Given the description of an element on the screen output the (x, y) to click on. 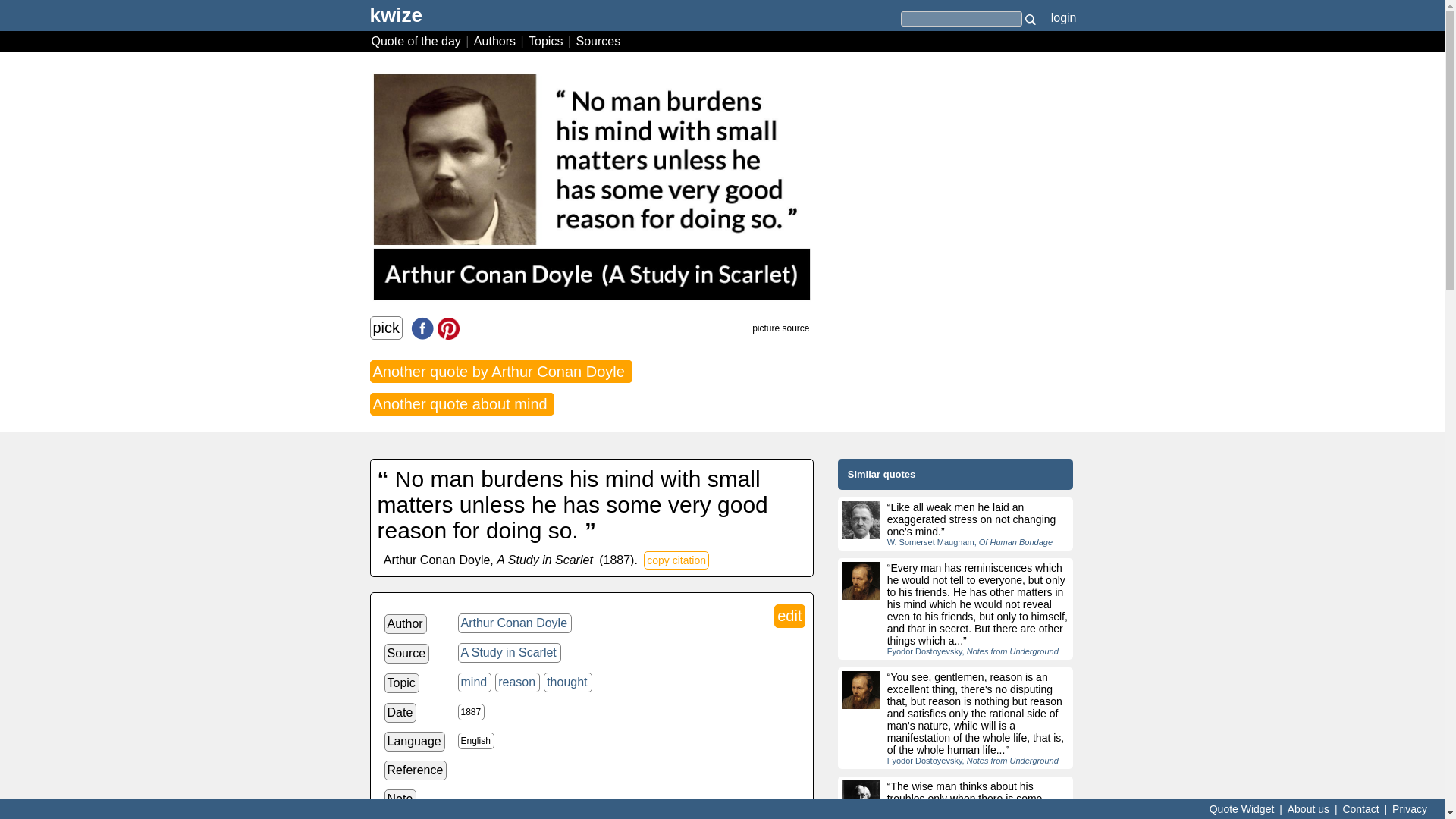
thought (567, 682)
Quote of the day (417, 41)
Quote Widget (1241, 808)
mind (475, 682)
login (1063, 18)
kwize (395, 19)
Arthur Conan Doyle (515, 623)
Authors (496, 41)
Arthur Conan Doyle quote about mind from A Study in Scarlet (591, 186)
Sources (597, 41)
Topics (547, 41)
picture source (780, 327)
reason (517, 682)
kwize (395, 19)
copy citation (676, 560)
